Given the description of an element on the screen output the (x, y) to click on. 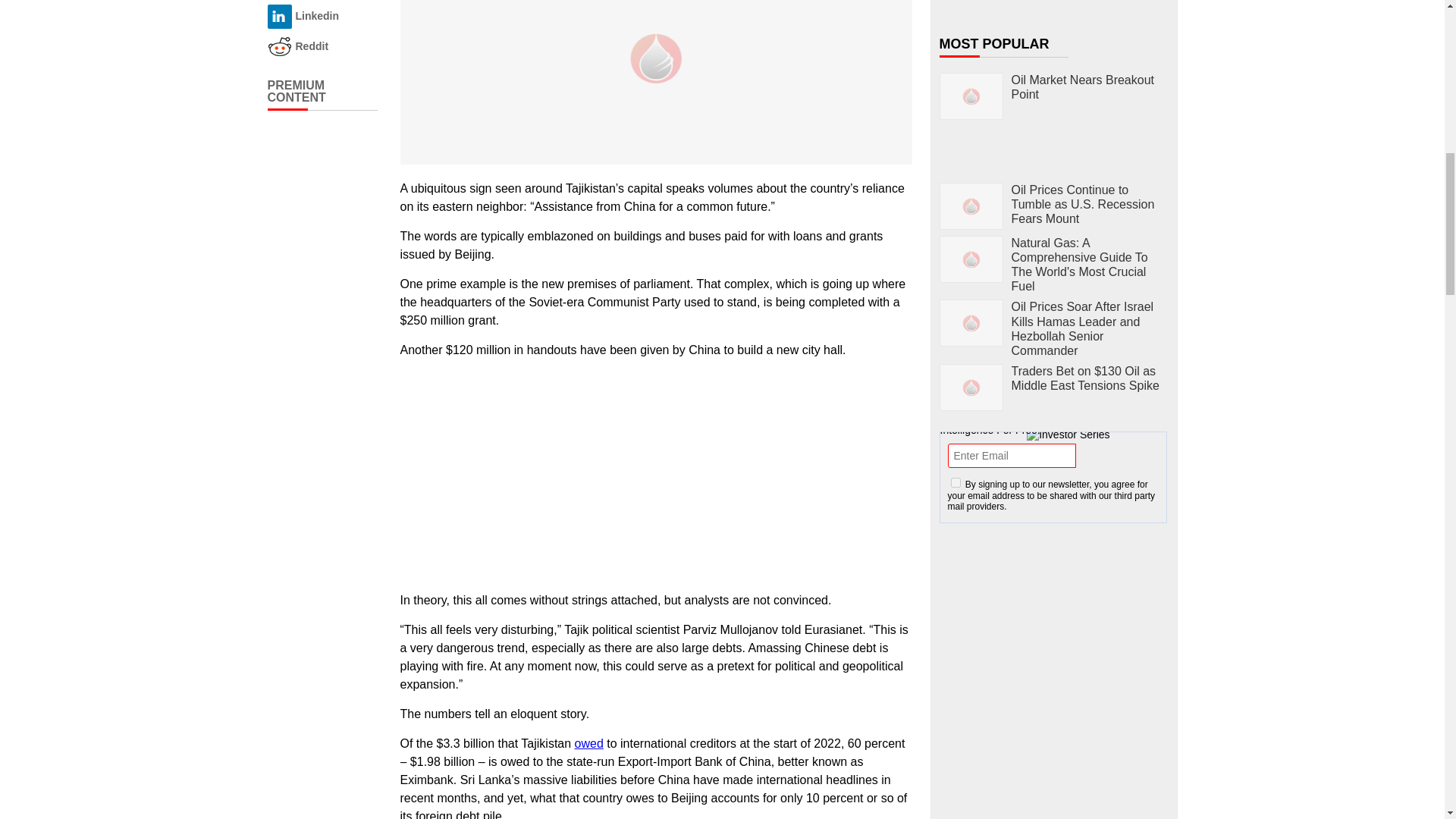
1 (955, 482)
